Given the description of an element on the screen output the (x, y) to click on. 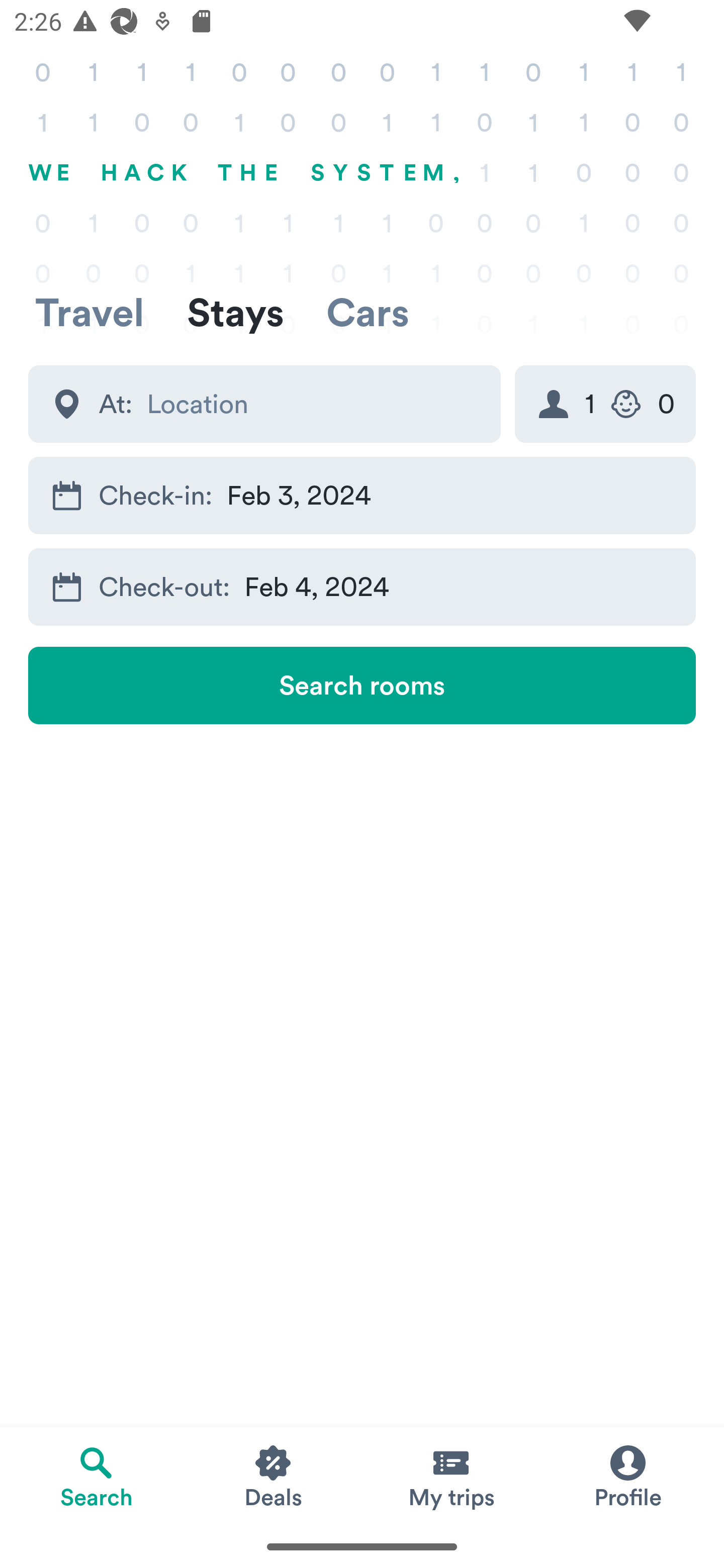
Travel (89, 311)
Stays (235, 311)
Cars (367, 311)
At: (264, 404)
1 0 (604, 404)
Check-in: Feb 3, 2024 (361, 495)
Check-out: Feb 4, 2024 (361, 586)
Search rooms (361, 684)
Deals (273, 1475)
My trips (450, 1475)
Profile (627, 1475)
